Given the description of an element on the screen output the (x, y) to click on. 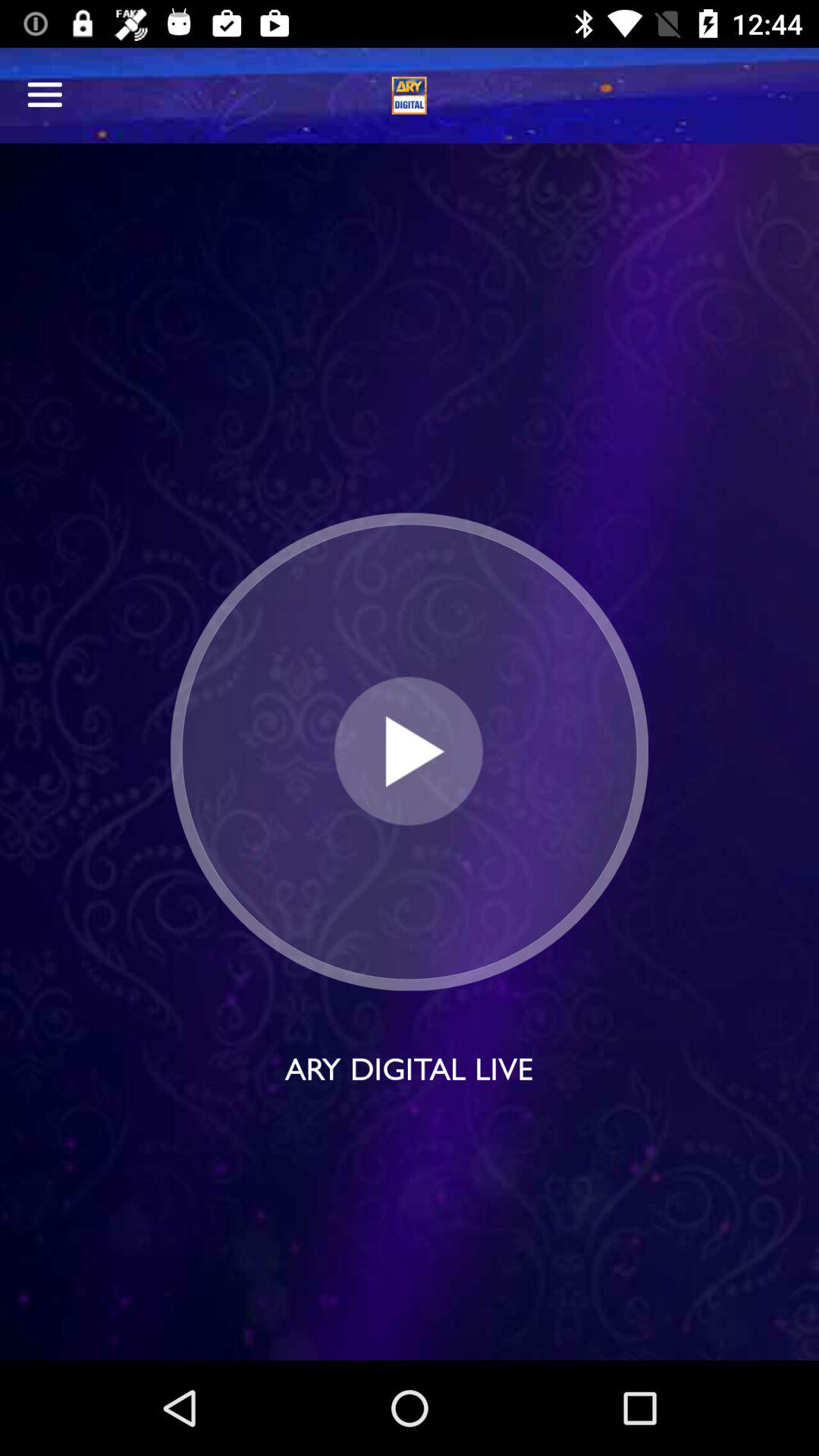
play media (409, 751)
